Given the description of an element on the screen output the (x, y) to click on. 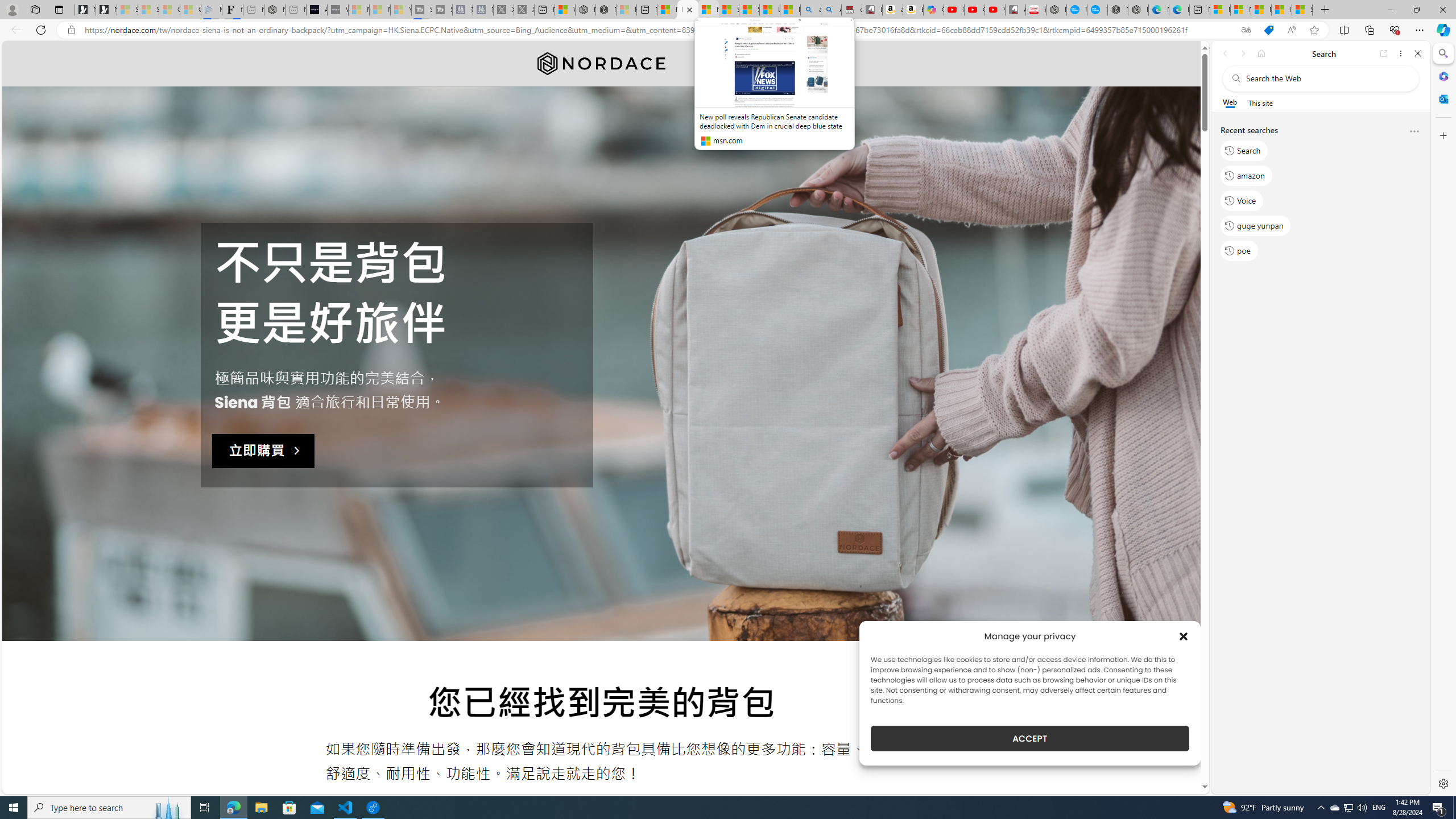
Copilot (933, 9)
Outlook (1442, 98)
Customize (1442, 135)
Show translate options (1245, 29)
amazon.in/dp/B0CX59H5W7/?tag=gsmcom05-21 (892, 9)
Newsletter Sign Up (106, 9)
